Given the description of an element on the screen output the (x, y) to click on. 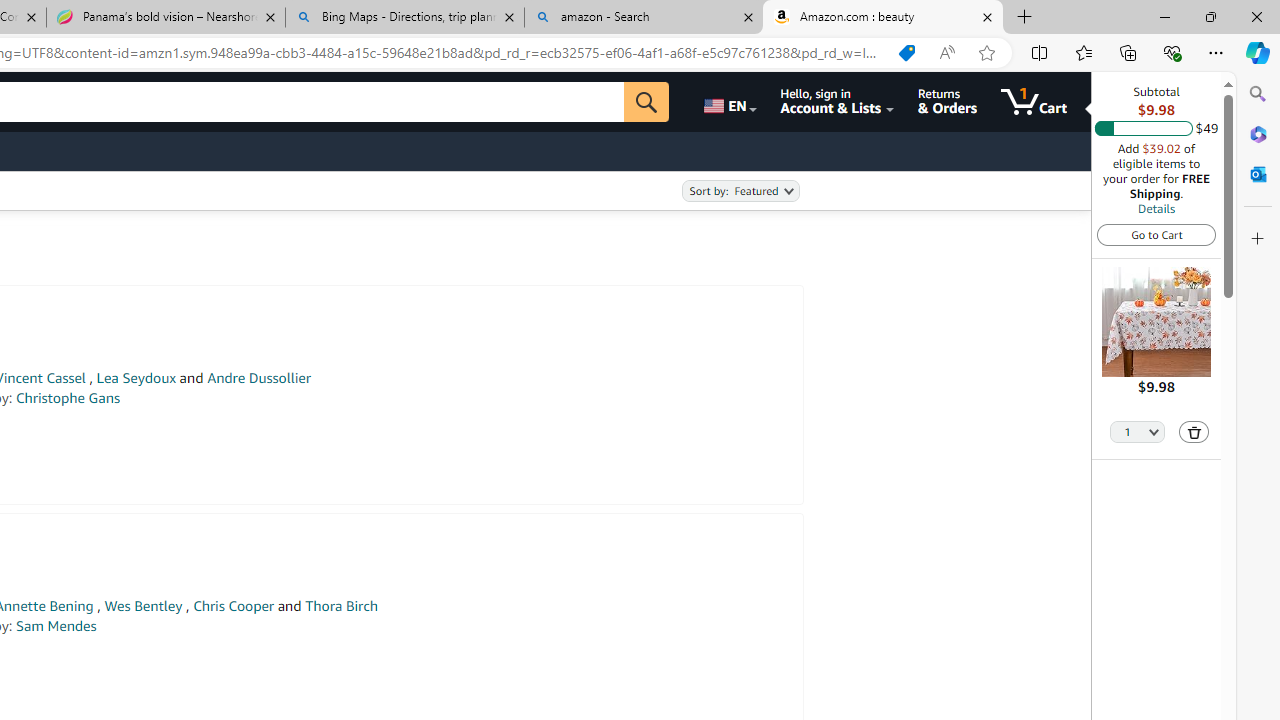
Delete (1193, 431)
Lea Seydoux (136, 378)
Sort by: (740, 191)
Quantity Selector (1137, 430)
Christophe Gans (67, 398)
amazon - Search (643, 17)
Details (1156, 208)
